Given the description of an element on the screen output the (x, y) to click on. 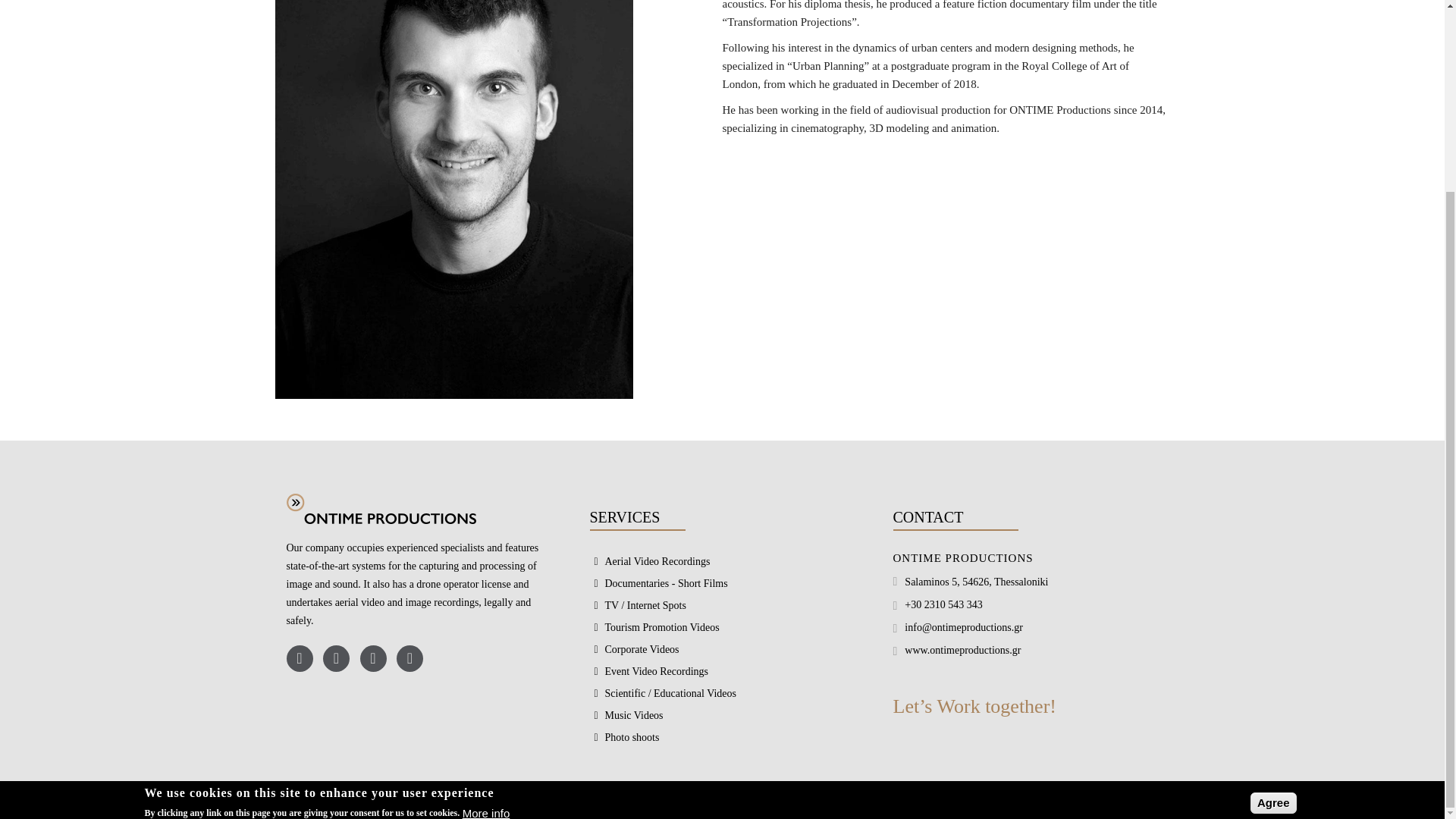
Music Videos (626, 715)
Tourism Promotion Videos (654, 627)
Event Video Recordings (649, 671)
More info (487, 572)
Corporate Videos (634, 649)
Ontime Productions (381, 508)
Documentaries - Short Films (658, 583)
Aerial Video Recordings (649, 561)
Photo shoots (624, 737)
